Given the description of an element on the screen output the (x, y) to click on. 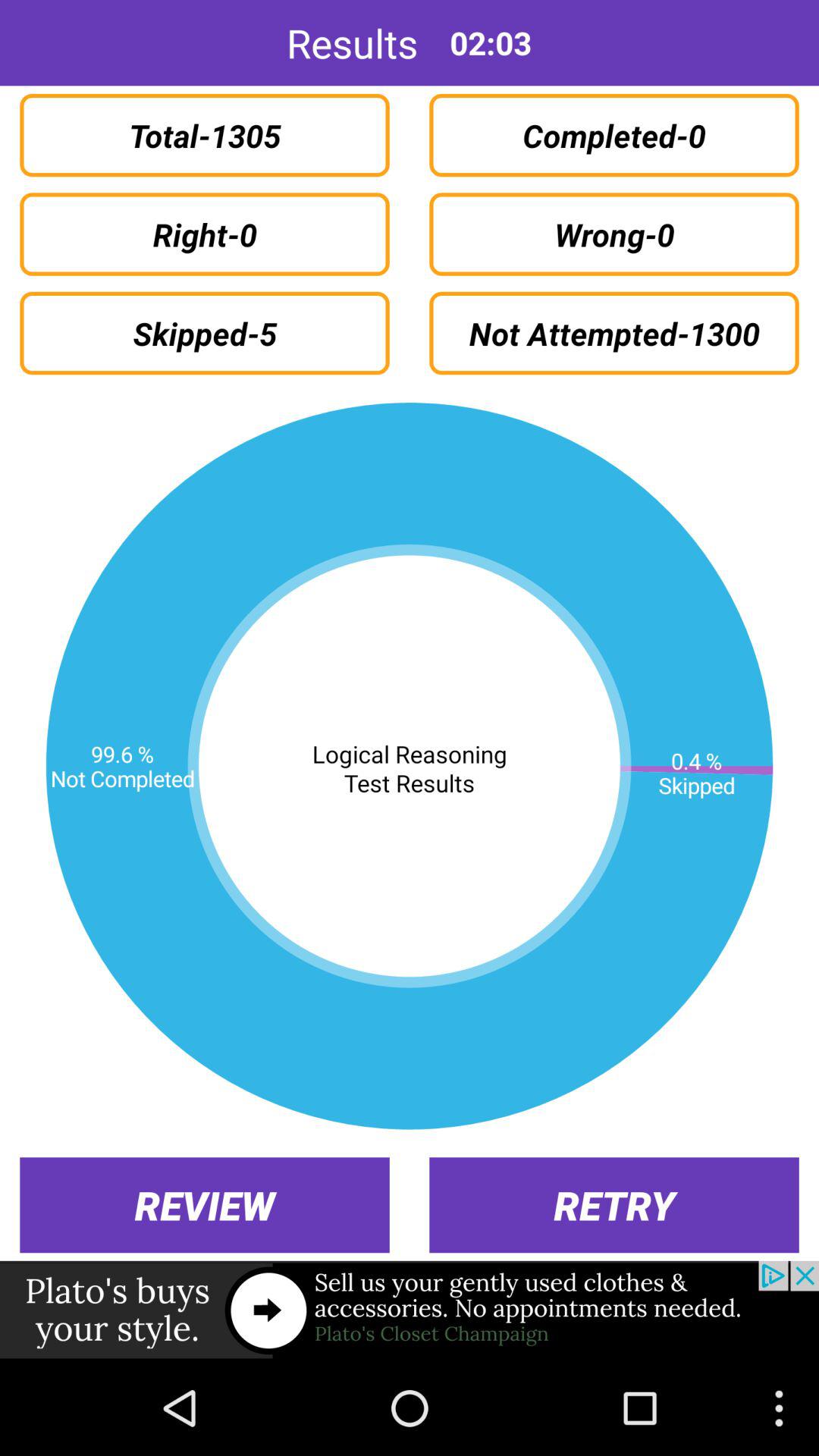
open advertisement (409, 1310)
